Given the description of an element on the screen output the (x, y) to click on. 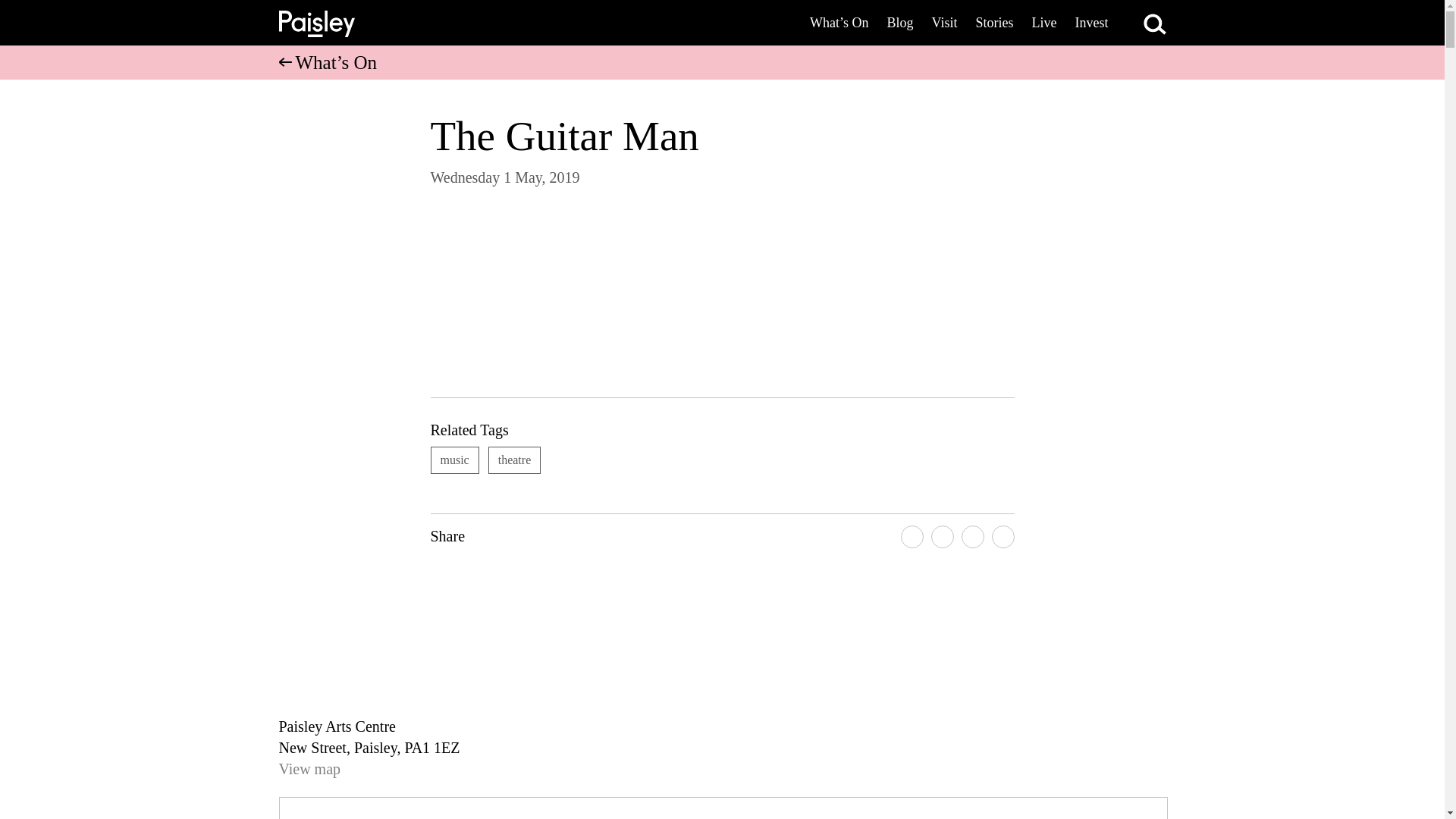
theatre (514, 460)
music (454, 460)
Invest (1091, 22)
View map (309, 768)
Visit (944, 22)
Stories (994, 22)
Live (1043, 22)
Blog (900, 22)
